Given the description of an element on the screen output the (x, y) to click on. 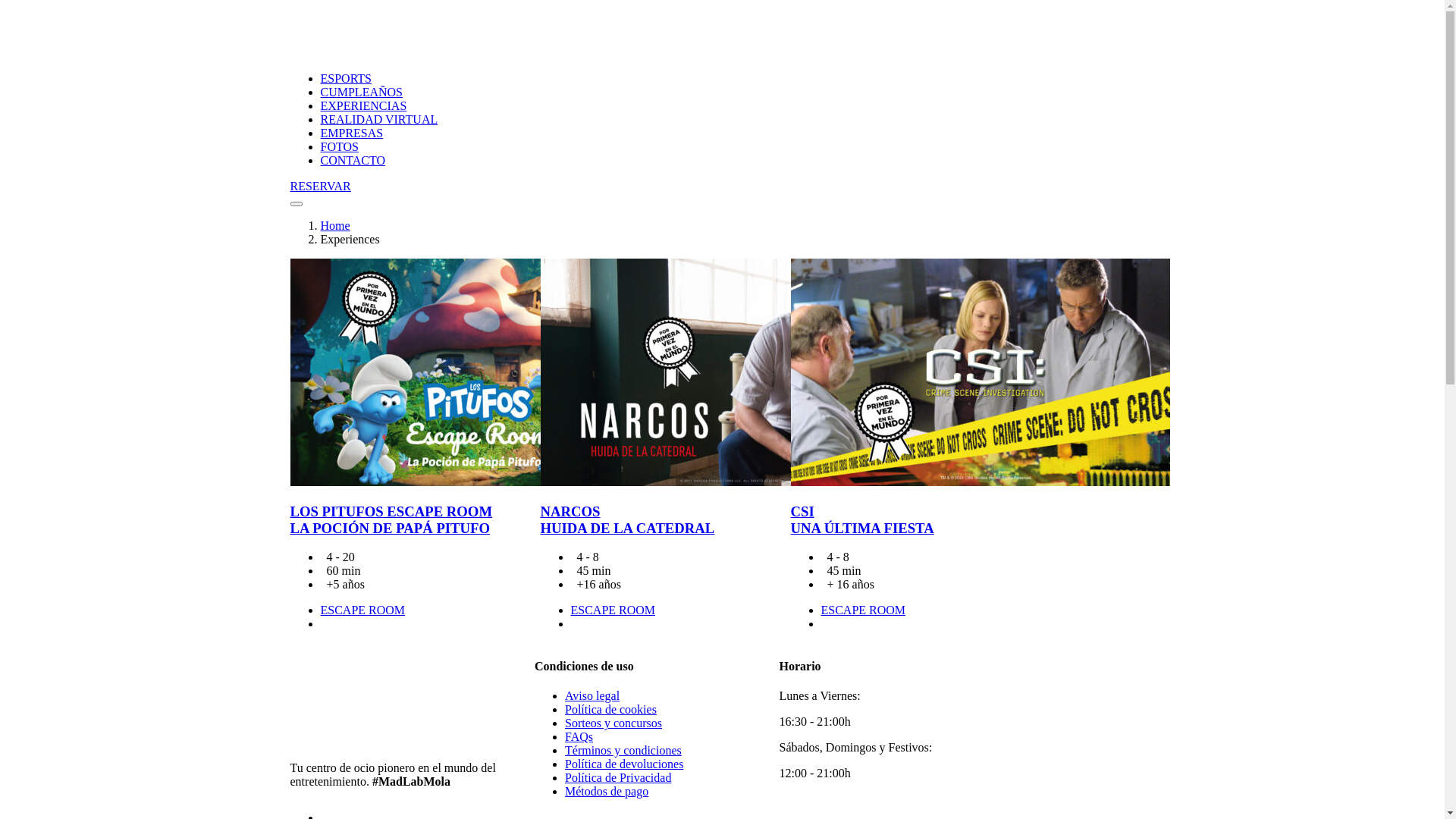
Aviso legal Element type: text (591, 695)
ESCAPE ROOM Element type: text (362, 609)
ESPORTS Element type: text (345, 78)
EMPRESAS Element type: text (351, 132)
CONTACTO Element type: text (352, 159)
FAQs Element type: text (578, 736)
NARCOS
HUIDA DE LA CATEDRAL Element type: text (626, 519)
ESCAPE ROOM Element type: text (862, 609)
EXPERIENCIAS Element type: text (363, 105)
Home Element type: text (334, 225)
FOTOS Element type: text (338, 146)
ESCAPE ROOM Element type: text (612, 609)
REALIDAD VIRTUAL Element type: text (378, 118)
RESERVAR Element type: text (732, 186)
Sorteos y concursos Element type: text (613, 722)
